Given the description of an element on the screen output the (x, y) to click on. 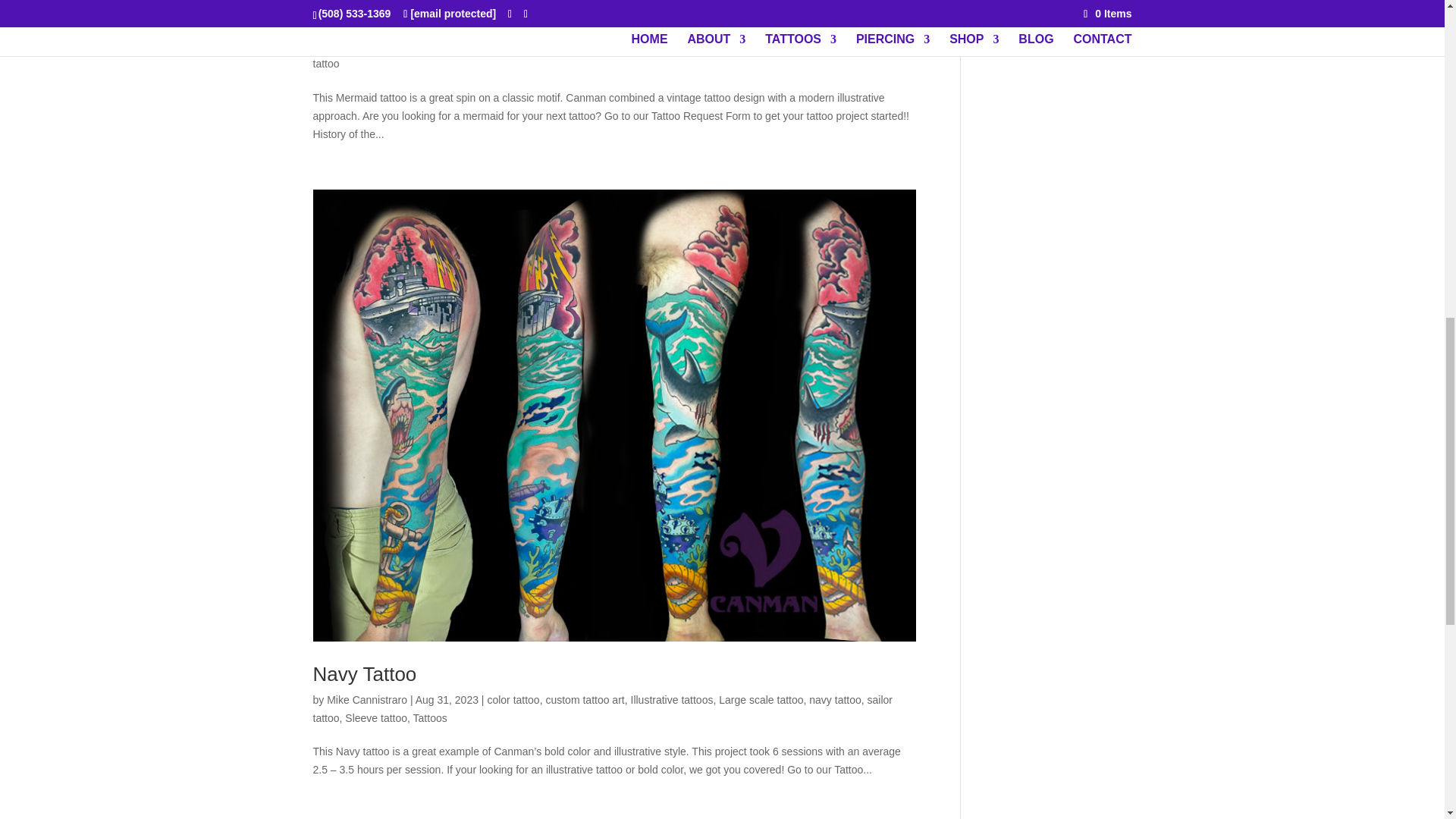
Posts by Mike Cannistraro (366, 46)
Posts by Mike Cannistraro (366, 699)
Mermaid tattoo (378, 20)
Mike Cannistraro (366, 46)
color tattoo (510, 46)
